Given the description of an element on the screen output the (x, y) to click on. 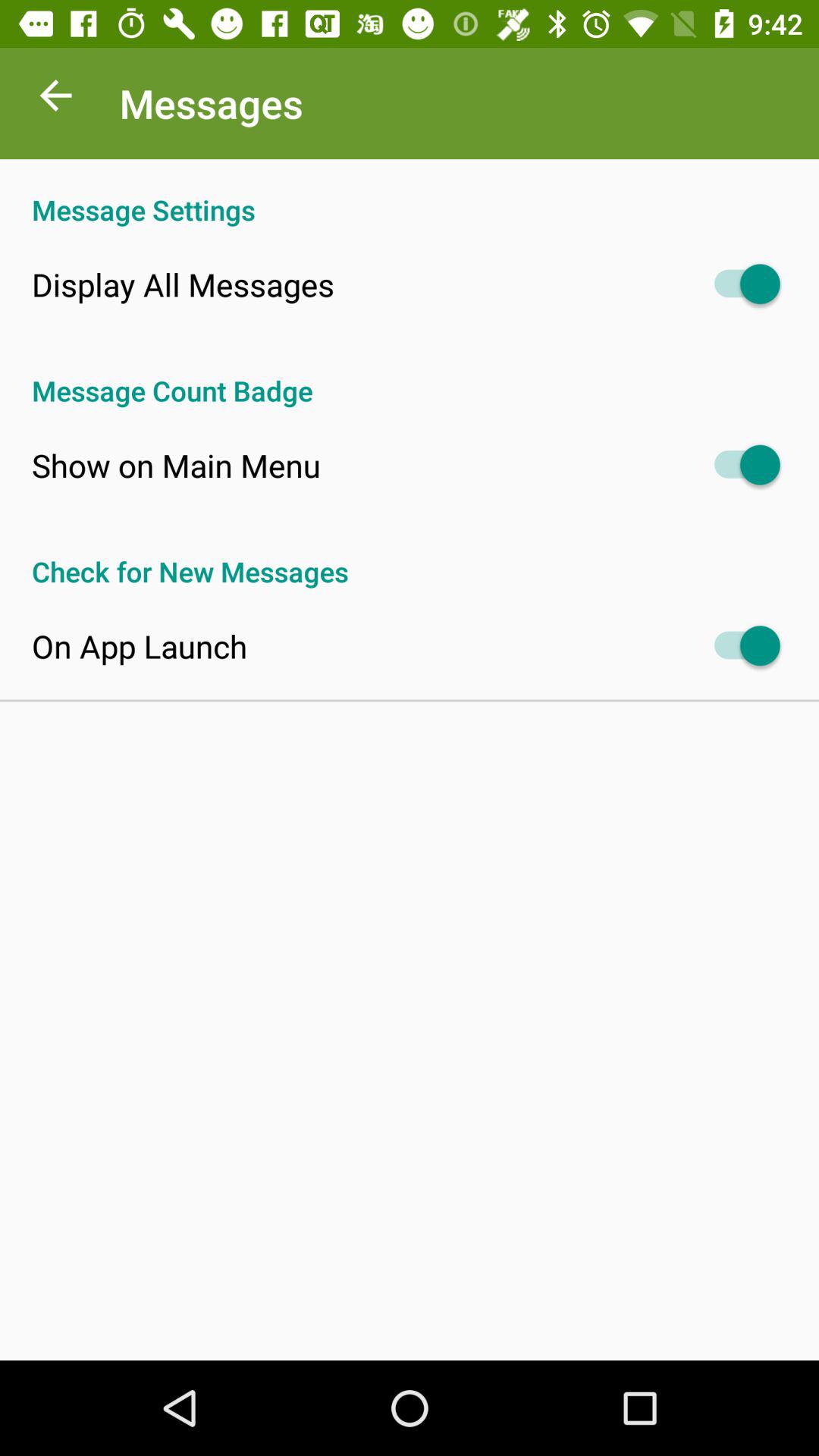
tap the item below check for new item (139, 645)
